Given the description of an element on the screen output the (x, y) to click on. 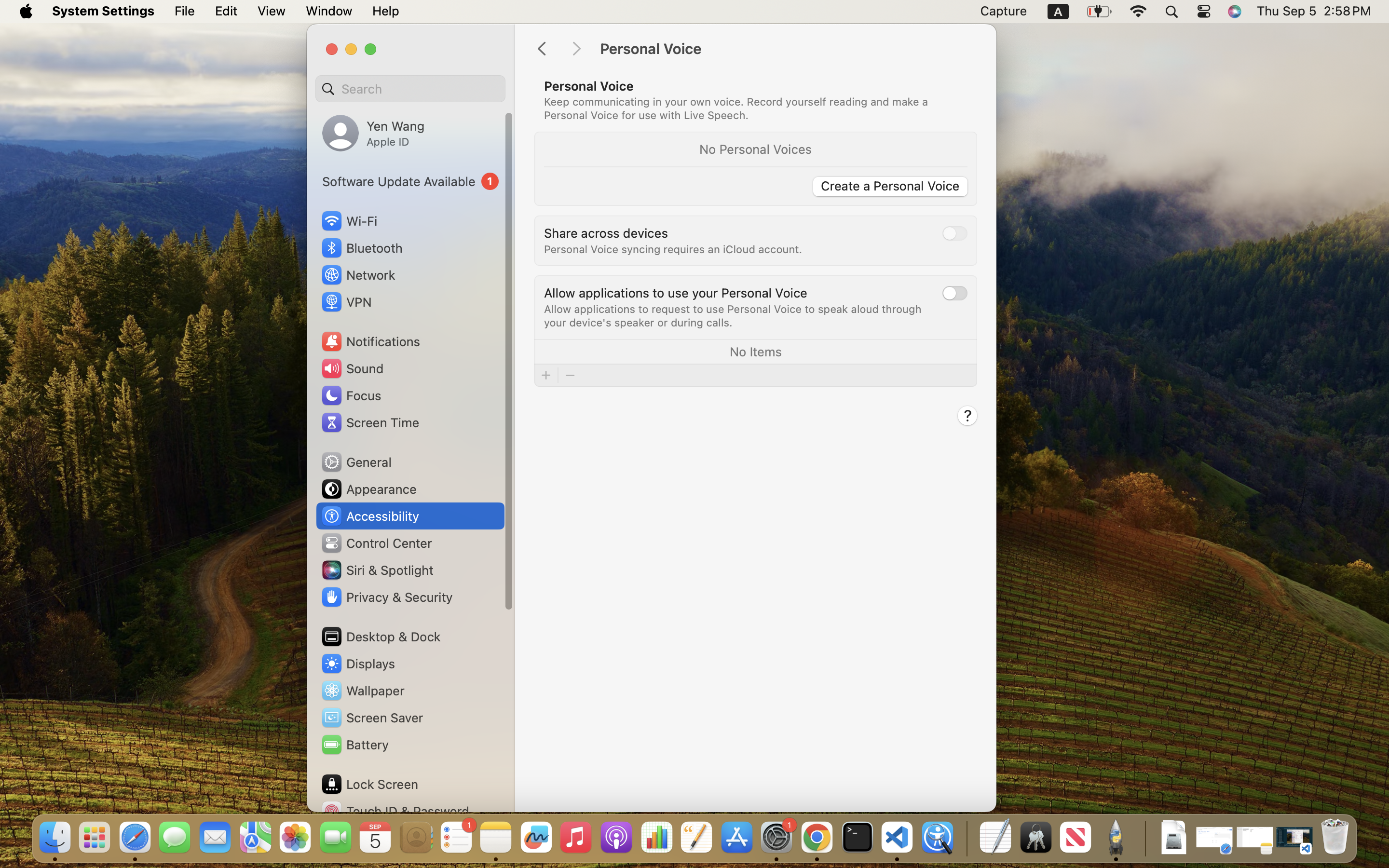
Screen Saver Element type: AXStaticText (371, 717)
Personal Voice syncing requires an iCloud account. Element type: AXStaticText (673, 248)
Displays Element type: AXStaticText (357, 663)
General Element type: AXStaticText (355, 461)
Privacy & Security Element type: AXStaticText (386, 596)
